Given the description of an element on the screen output the (x, y) to click on. 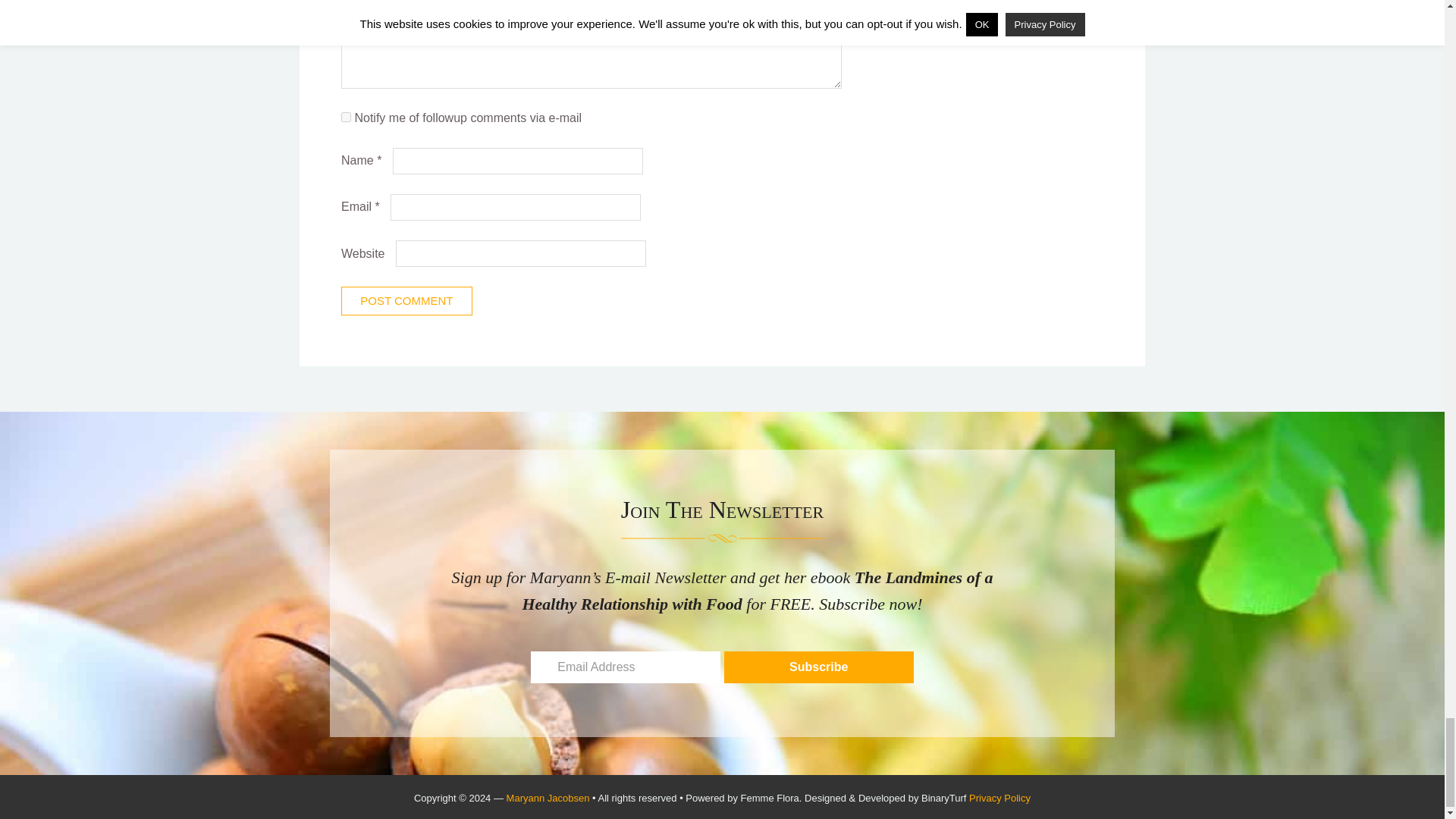
subscribe (345, 117)
Post Comment (405, 300)
Privacy Policy (999, 797)
Maryann Jacobsen (547, 797)
